Given the description of an element on the screen output the (x, y) to click on. 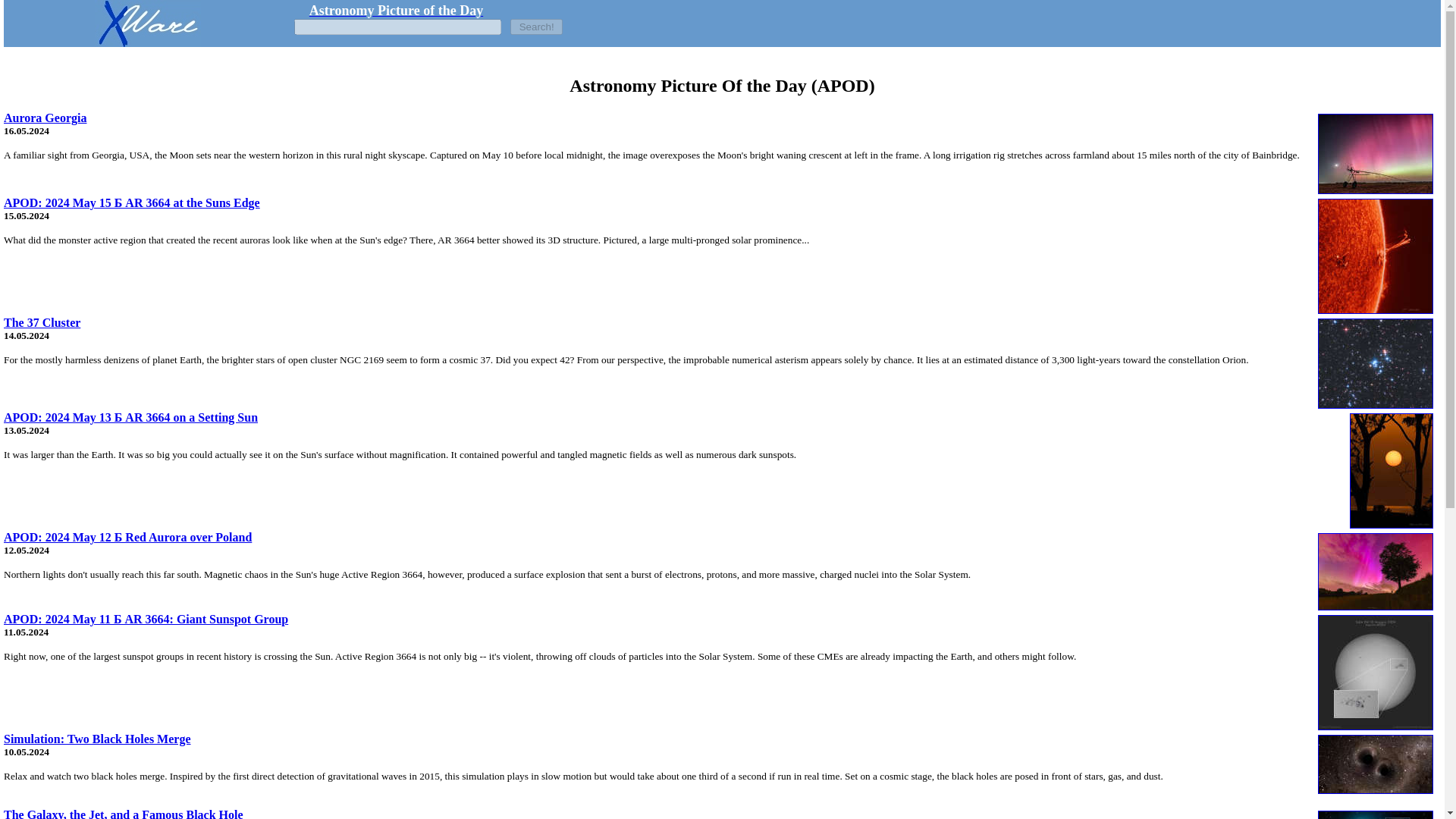
Aurora Georgia (44, 117)
Astronomy Picture of the Day (395, 10)
The Galaxy, the Jet, and a Famous Black Hole (123, 813)
The 37 Cluster (42, 322)
Simulation: Two Black Holes Merge (97, 738)
